Given the description of an element on the screen output the (x, y) to click on. 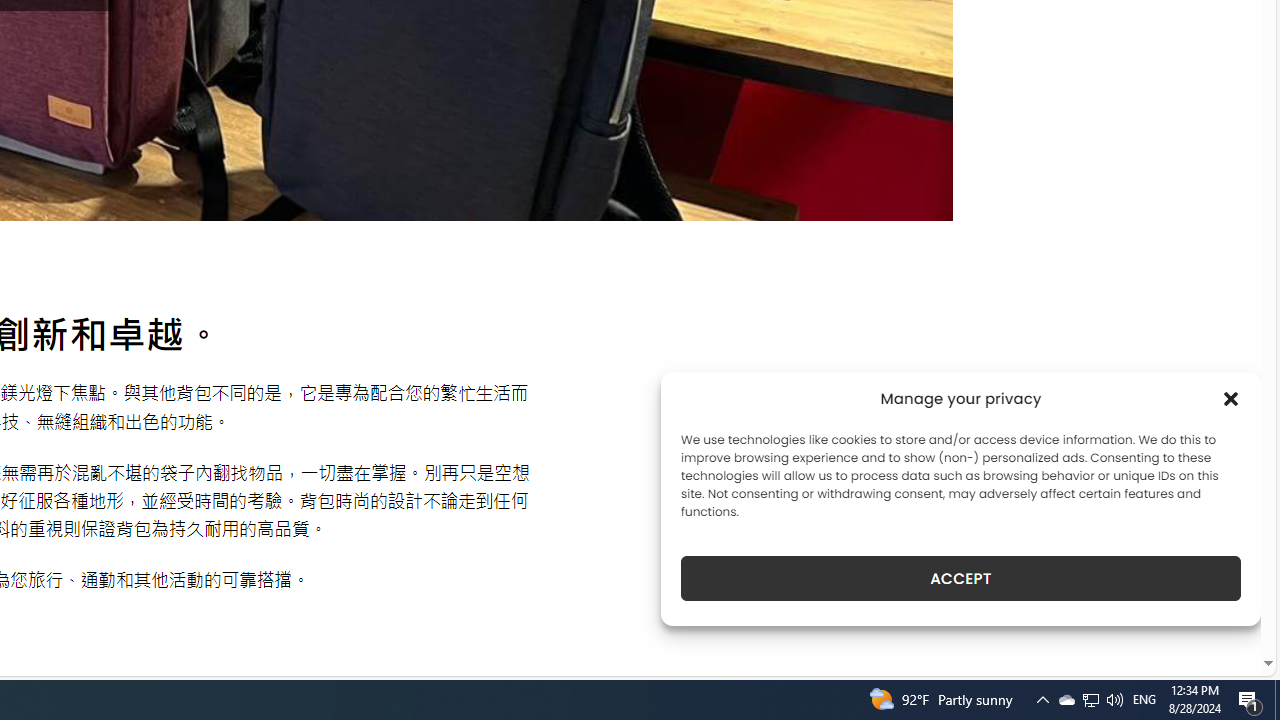
Class: cmplz-close (1231, 398)
ACCEPT (960, 578)
